Given the description of an element on the screen output the (x, y) to click on. 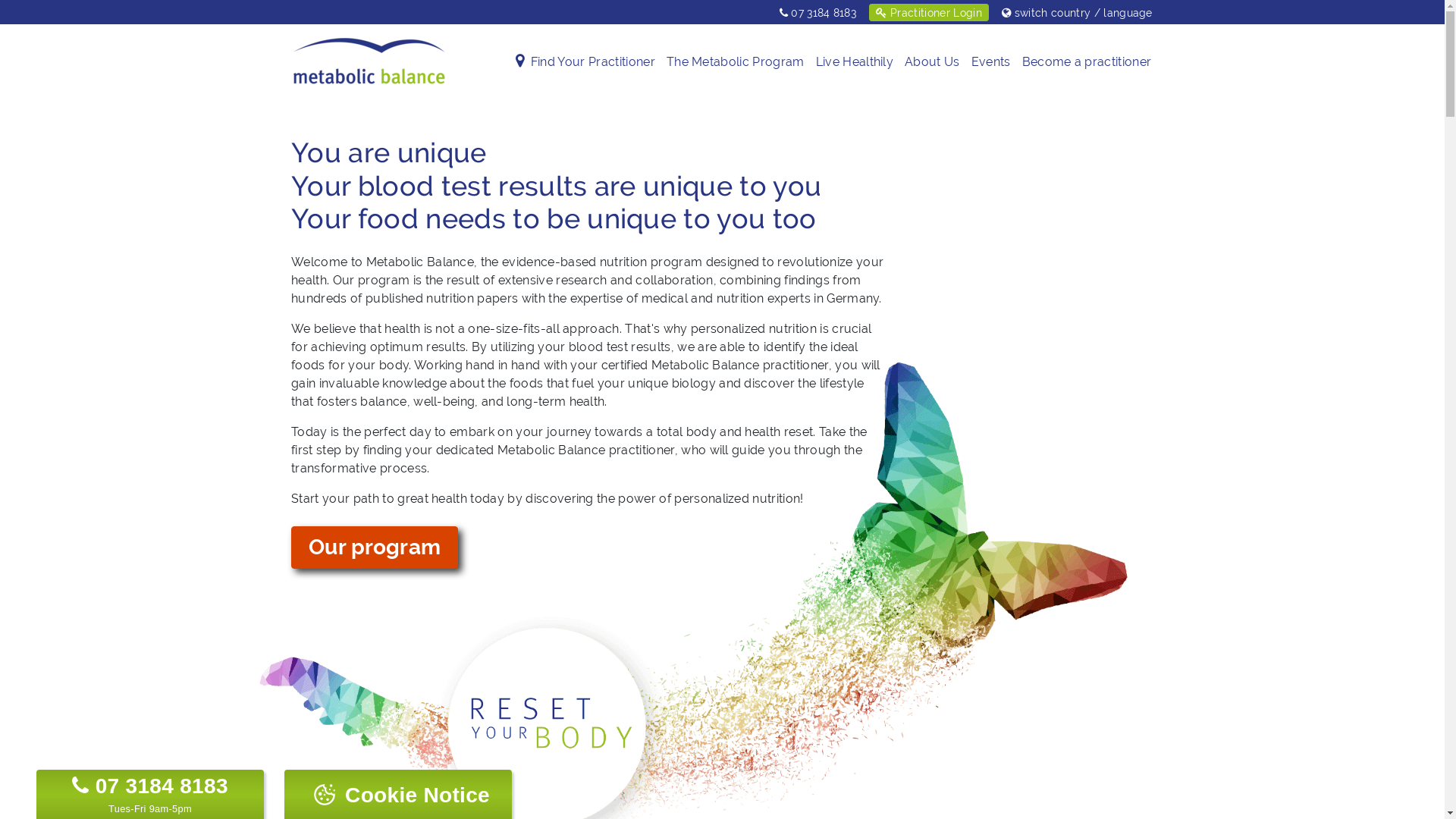
switch country / language Element type: text (1075, 12)
The Metabolic Program Element type: text (735, 61)
Become a practitioner Element type: text (1086, 61)
Events Element type: text (990, 61)
About Us Element type: text (932, 61)
Find Your Practitioner Element type: text (592, 61)
Practitioner Login Element type: text (928, 12)
Our program Element type: text (374, 547)
07 3184 8183 Element type: text (817, 12)
Live Healthily Element type: text (854, 61)
07 3184 8183 Element type: text (149, 785)
